Given the description of an element on the screen output the (x, y) to click on. 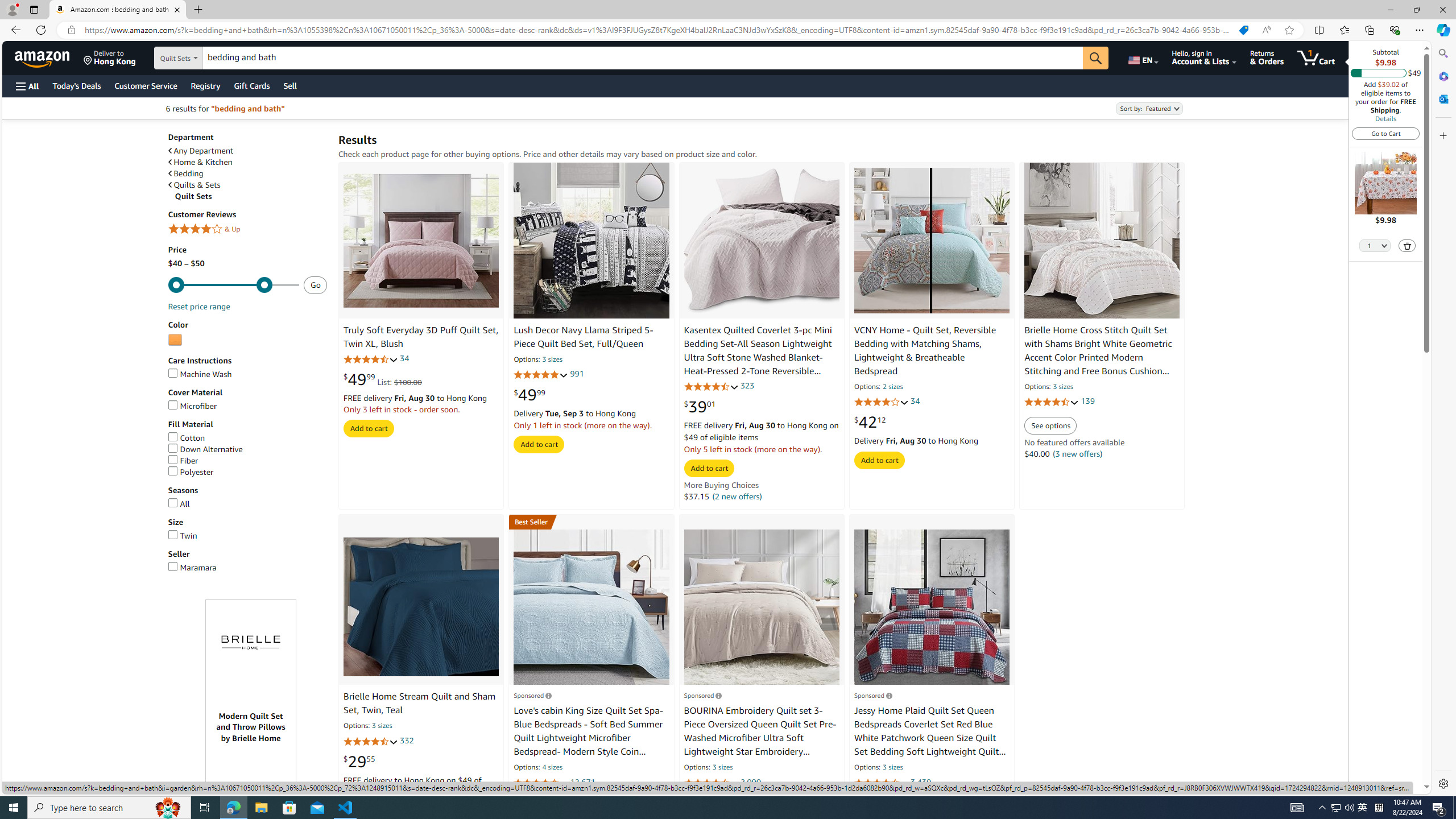
Cotton (247, 438)
Search Amazon (642, 57)
Fiber (247, 461)
Cotton (186, 437)
Truly Soft Everyday 3D Puff Quilt Set, Twin XL, Blush (421, 336)
Amazon.com : bedding and bath (117, 9)
4.3 out of 5 stars (370, 740)
3 sizes (892, 767)
Any Department (200, 150)
All (178, 503)
Returns & Orders (1266, 57)
